Given the description of an element on the screen output the (x, y) to click on. 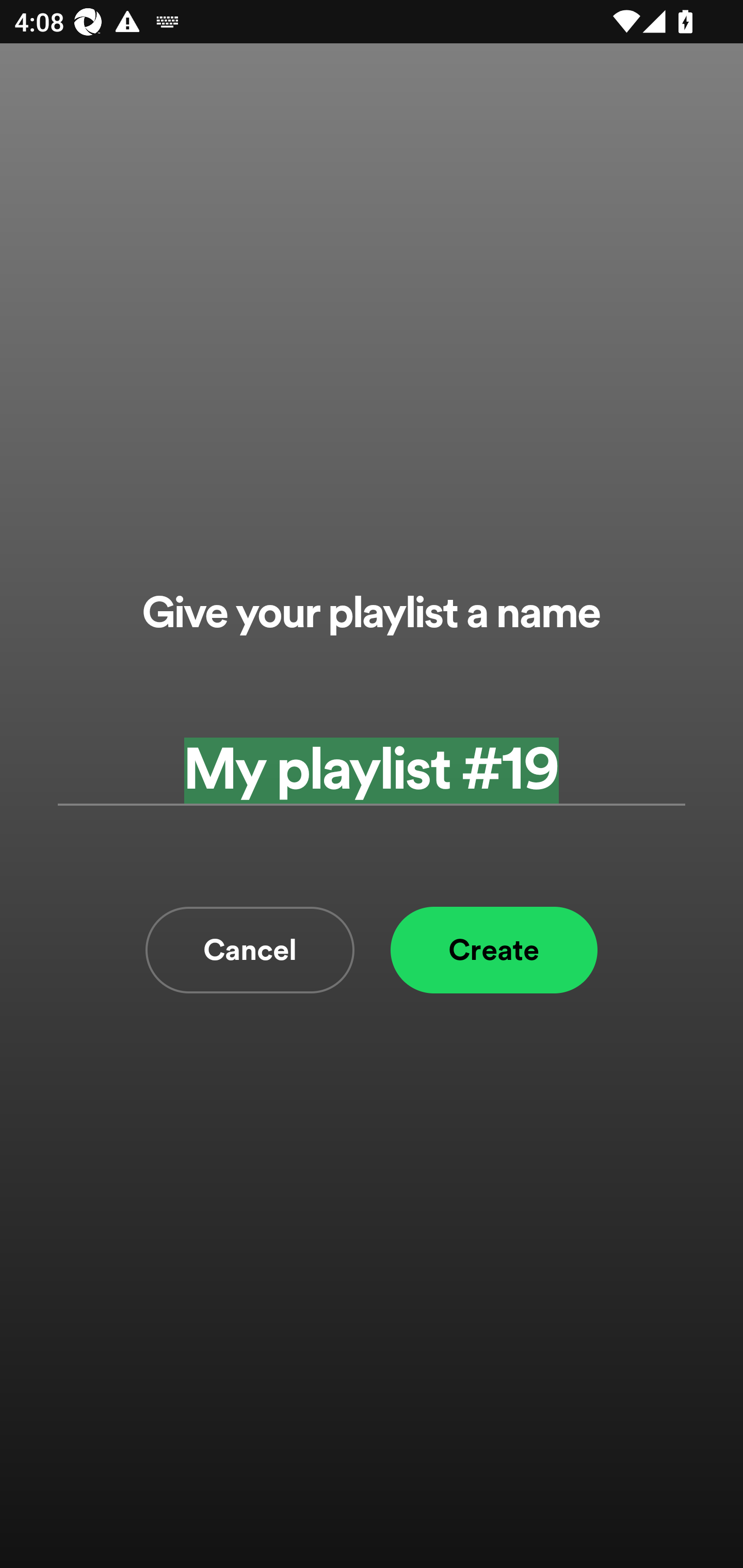
My playlist #19 Add a playlist name (371, 769)
Cancel (249, 950)
Create (493, 950)
